Given the description of an element on the screen output the (x, y) to click on. 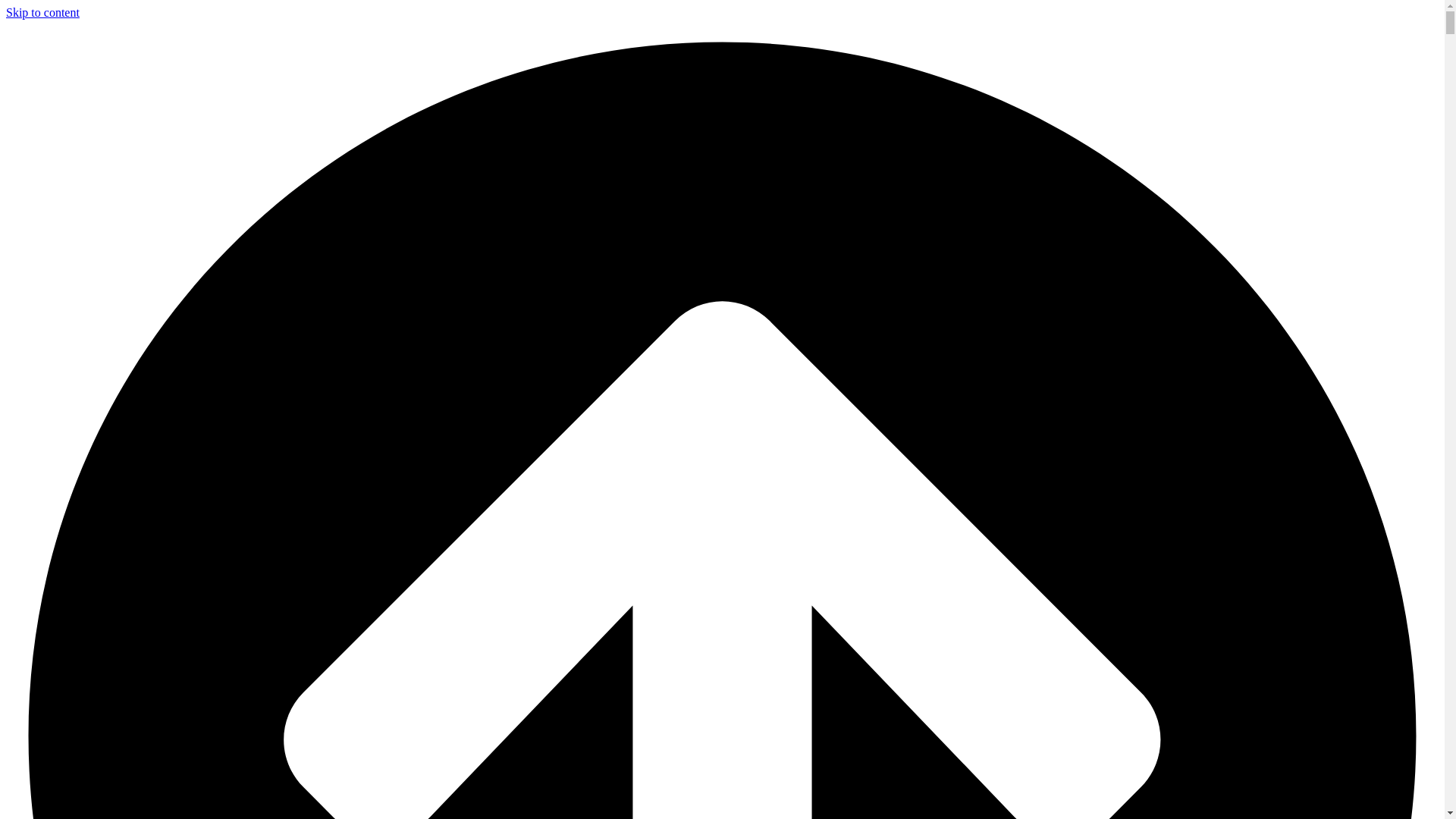
Skip to content (42, 11)
Skip to content (42, 11)
